Given the description of an element on the screen output the (x, y) to click on. 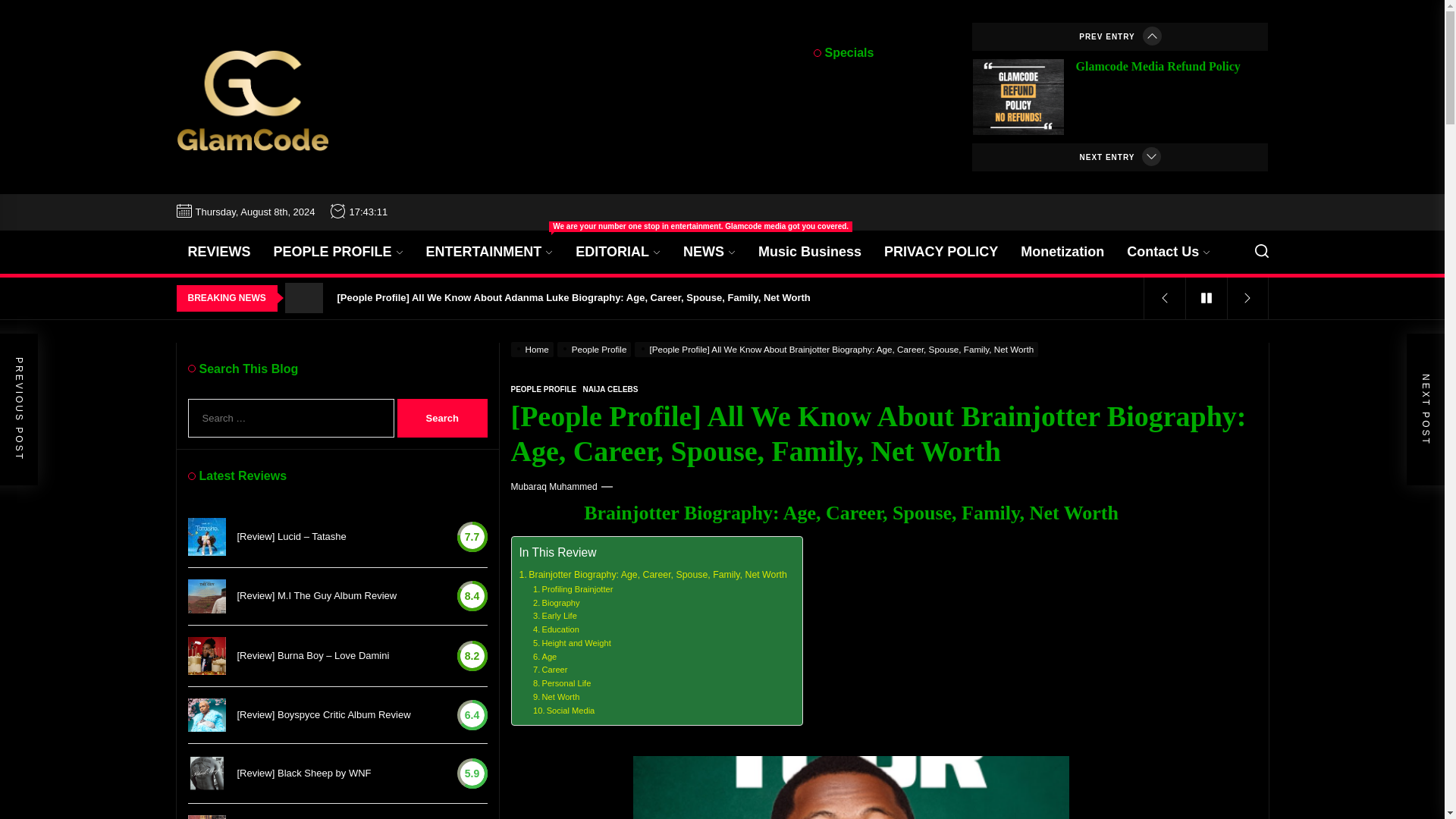
Search (442, 418)
REVIEWS (219, 251)
Search (442, 418)
PEOPLE PROFILE (338, 251)
Glamcode Media Refund Policy (1157, 65)
Glamcode Media Refund Policy (1157, 65)
